Given the description of an element on the screen output the (x, y) to click on. 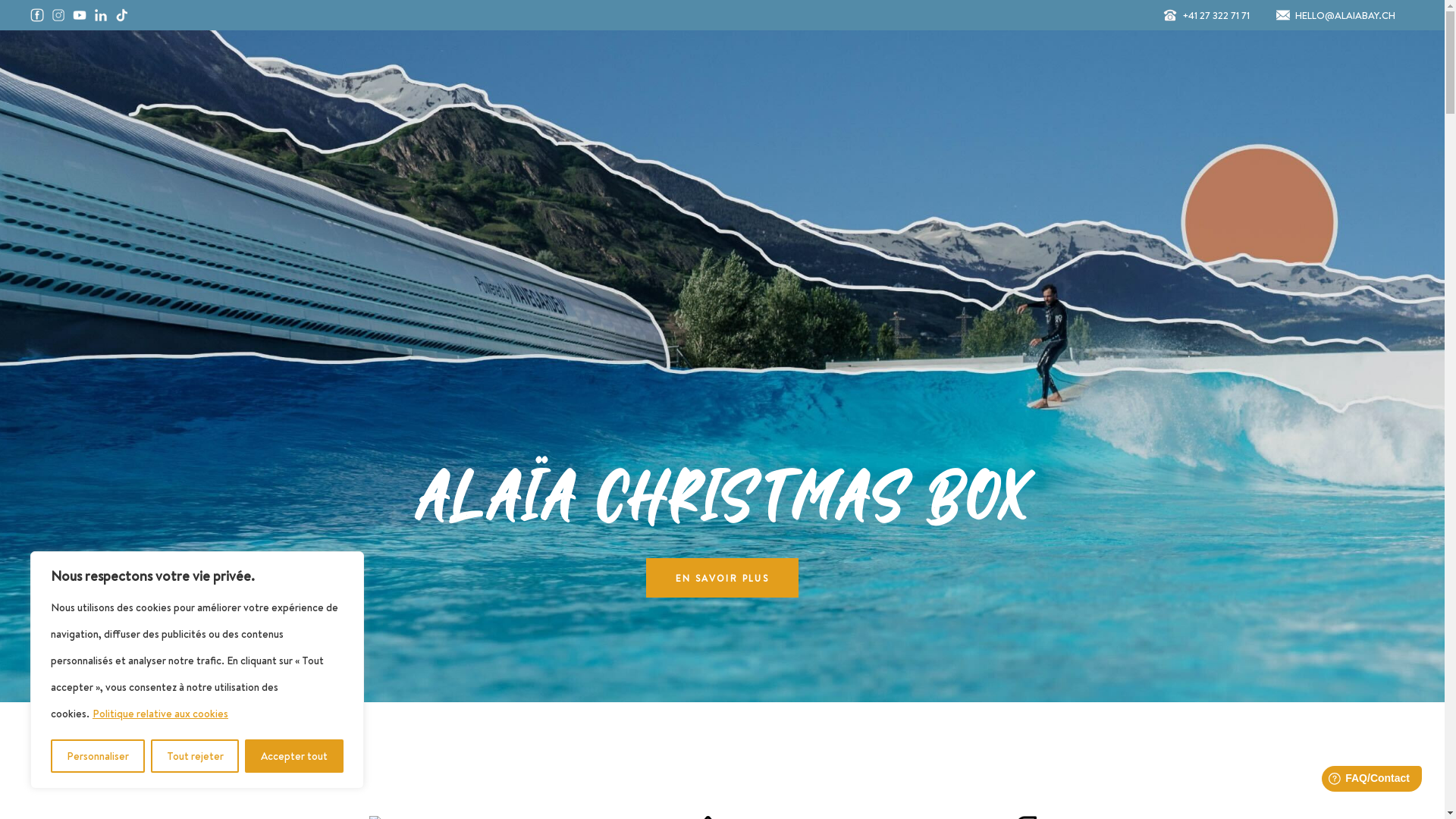
Tout rejeter Element type: text (194, 755)
            Element type: text (166, 13)
      Element type: text (284, 13)
HELLO@ALAIABAY.CH Element type: text (1345, 14)
      Element type: text (243, 13)
+41 27 322 71 71 Element type: text (1215, 14)
Personnaliser Element type: text (97, 755)
      Element type: text (210, 13)
EN SAVOIR PLUS Element type: text (722, 577)
Accepter tout Element type: text (293, 755)
Politique relative aux cookies Element type: text (160, 713)
